Given the description of an element on the screen output the (x, y) to click on. 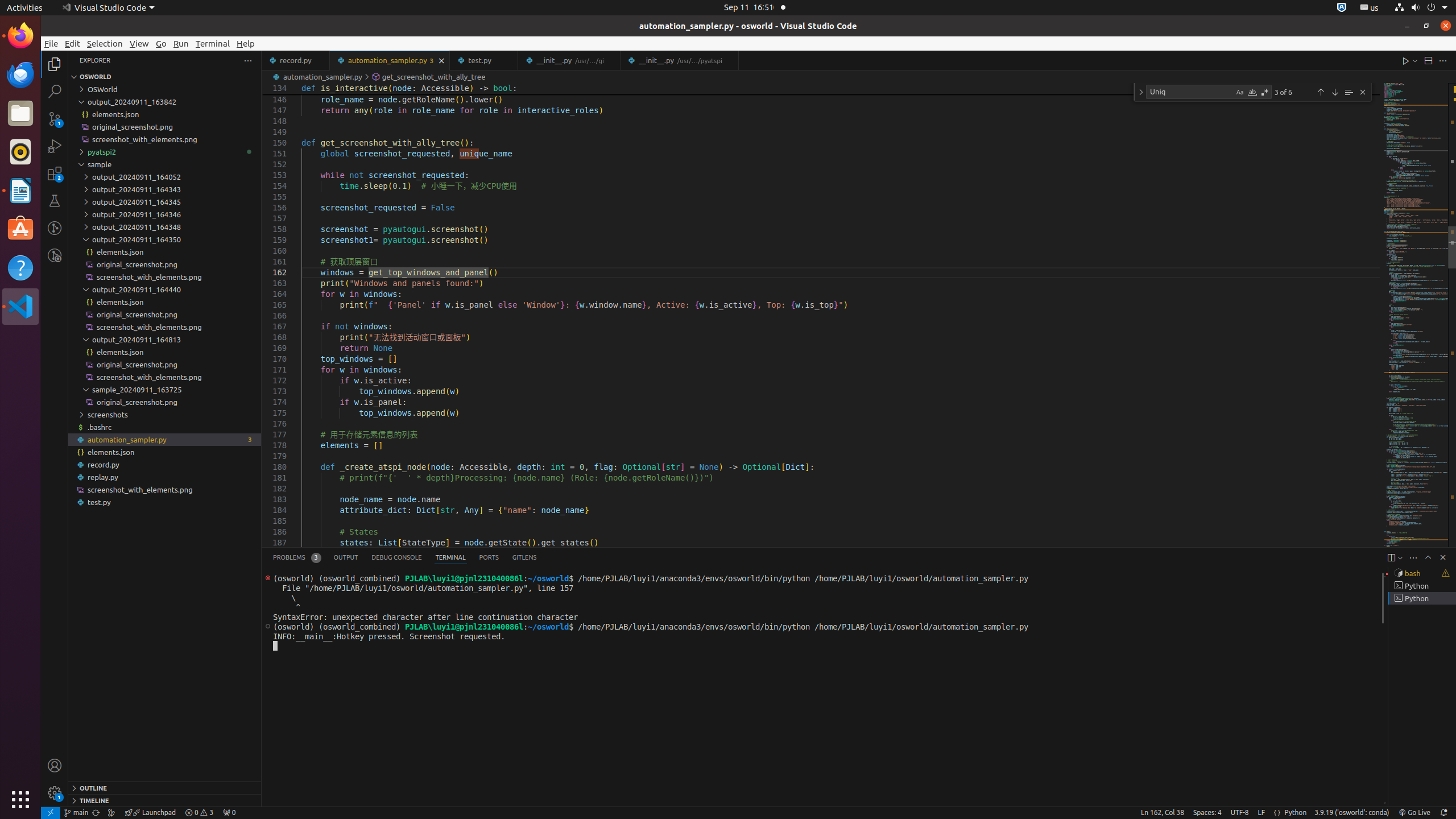
Next Match (Enter) Element type: push-button (1334, 91)
Problems (Ctrl+Shift+M) - Total 3 Problems Element type: page-tab (296, 557)
Source Control (Ctrl+Shift+G G) - 1 pending changes Element type: page-tab (54, 118)
screenshot_with_elements.png Element type: tree-item (164, 489)
File Element type: push-button (50, 43)
